Given the description of an element on the screen output the (x, y) to click on. 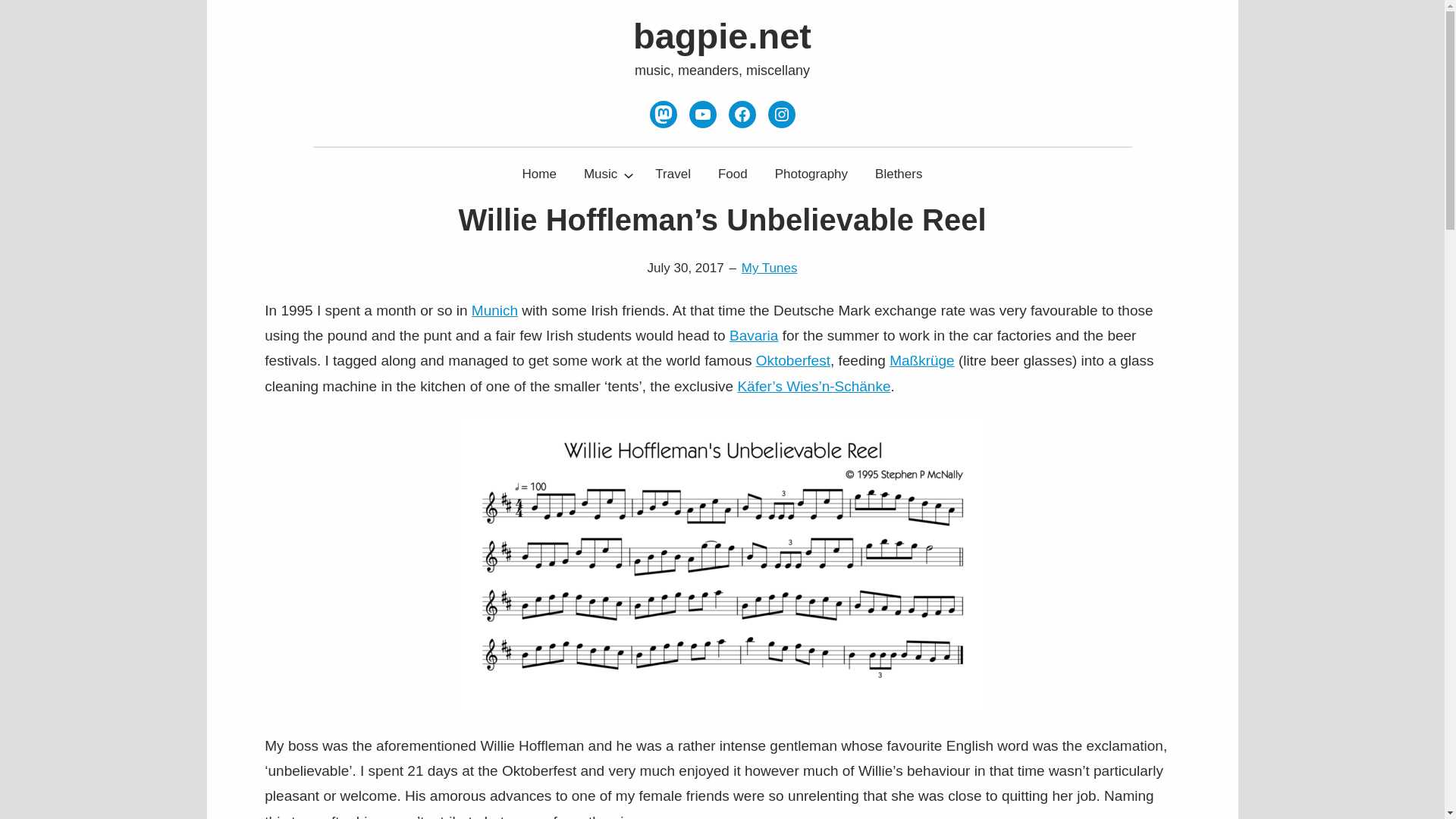
Mastodon (663, 113)
Oktoberfest (792, 360)
YouTube (702, 113)
Munich (494, 310)
Blethers (898, 173)
My Tunes (769, 268)
July 30, 2017 (685, 268)
Facebook (741, 113)
Instagram (780, 113)
bagpie.net (721, 35)
